Given the description of an element on the screen output the (x, y) to click on. 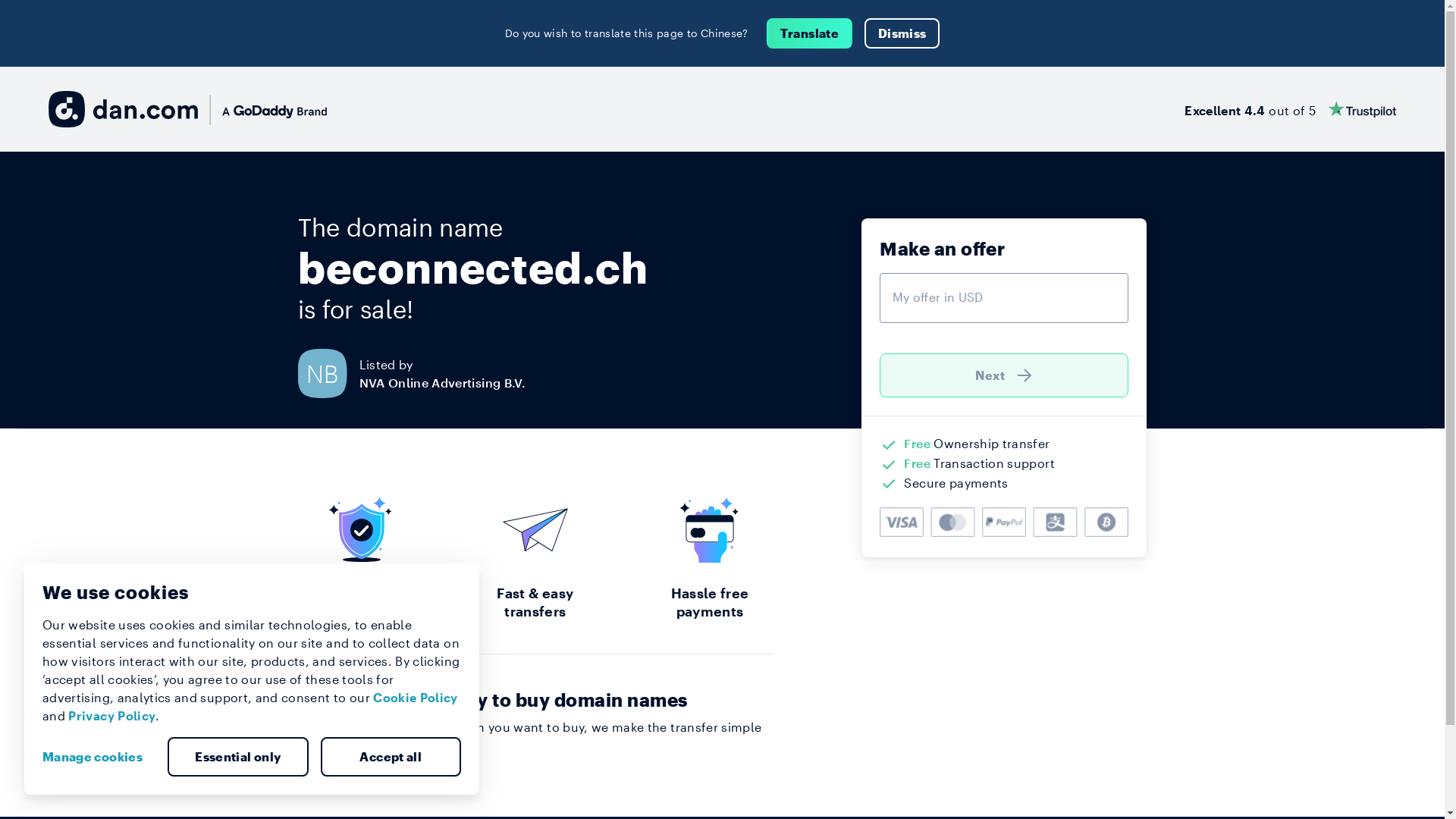
Privacy Policy Element type: text (111, 715)
Accept all Element type: text (390, 756)
Translate Element type: text (809, 33)
Manage cookies Element type: text (98, 756)
Cookie Policy Element type: text (415, 697)
Dismiss Element type: text (901, 33)
Essential only Element type: text (237, 756)
Next
) Element type: text (1003, 375)
Excellent 4.4 out of 5 Element type: text (1290, 109)
